Given the description of an element on the screen output the (x, y) to click on. 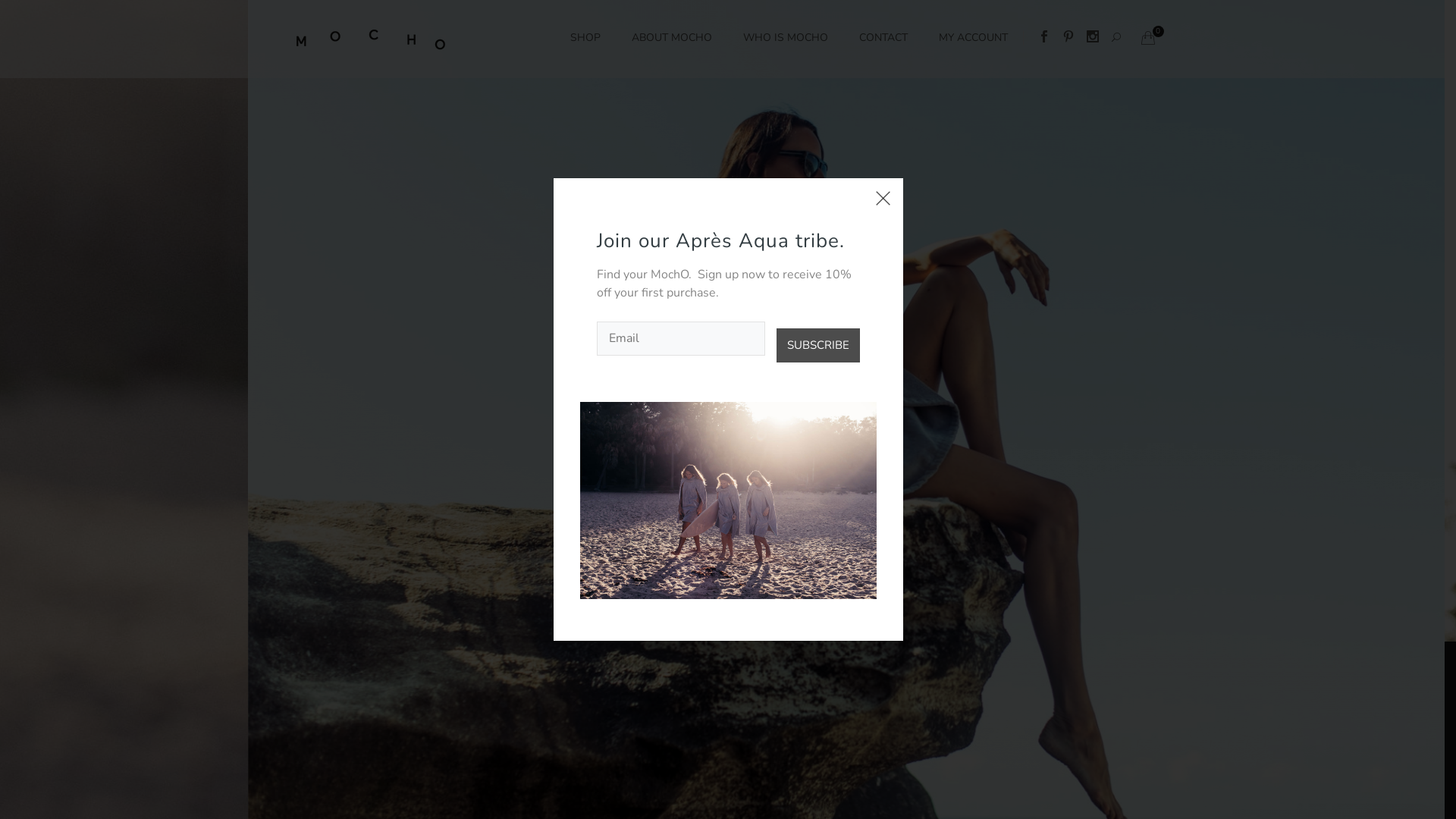
MY ACCOUNT Element type: text (972, 37)
CONTACT Element type: text (882, 37)
Instagram Element type: hover (1091, 38)
SUBSCRIBE Element type: text (817, 345)
Terms and Conditions Element type: text (845, 782)
SHOP Element type: text (585, 37)
Mocho Element type: text (701, 798)
0 Element type: text (1147, 39)
Pinterest Element type: hover (1067, 38)
Care Instructions Element type: text (600, 782)
ABOUT MOCHO Element type: text (670, 37)
Privacy Policy Element type: text (763, 782)
Facebook Element type: hover (1043, 38)
SIGN UP Element type: text (923, 713)
WHO IS MOCHO Element type: text (785, 37)
Shipping & Returns Element type: text (685, 782)
